Given the description of an element on the screen output the (x, y) to click on. 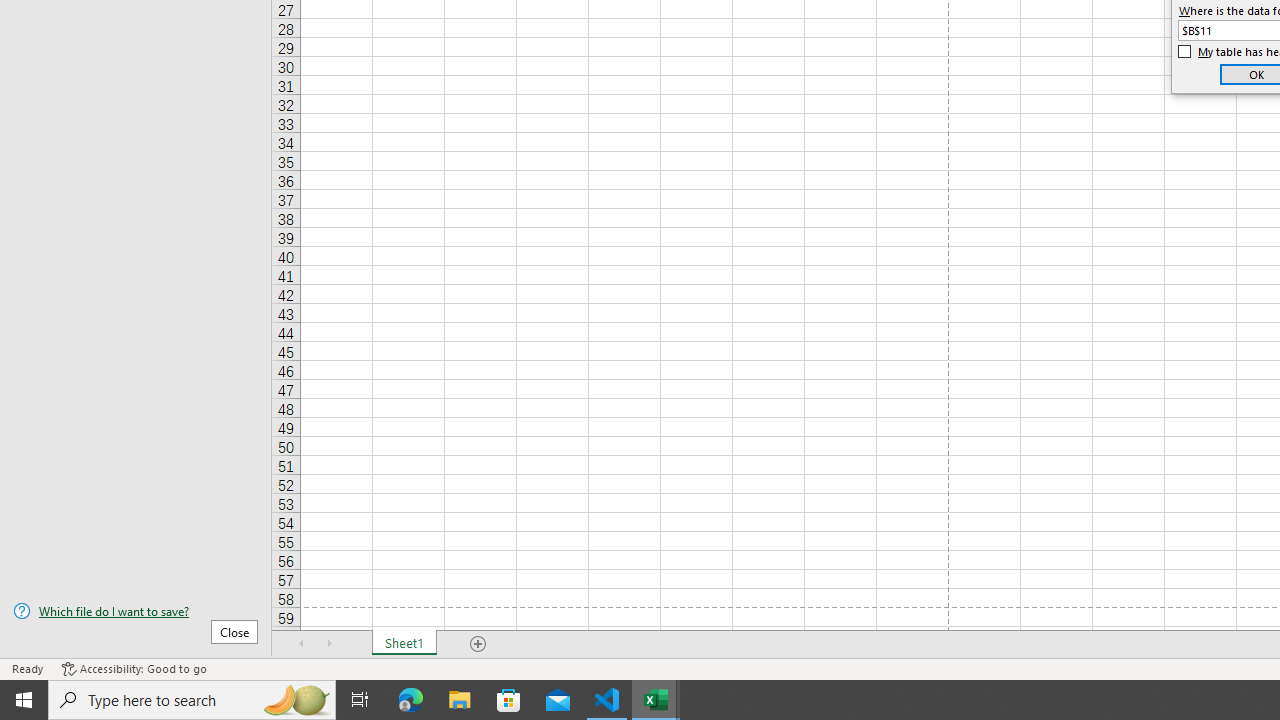
Which file do I want to save? (136, 611)
